Given the description of an element on the screen output the (x, y) to click on. 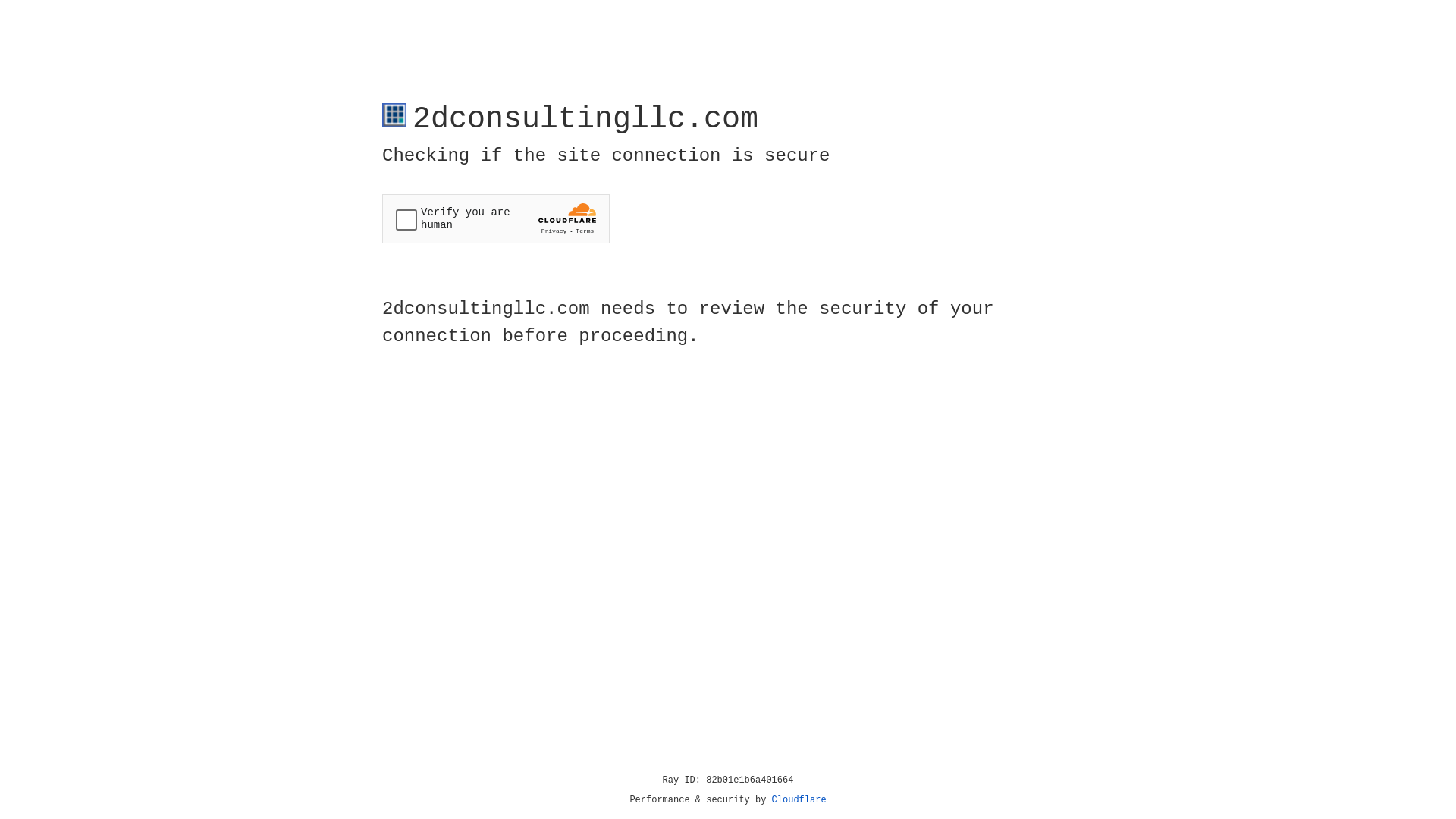
Cloudflare Element type: text (798, 799)
Widget containing a Cloudflare security challenge Element type: hover (495, 218)
